Given the description of an element on the screen output the (x, y) to click on. 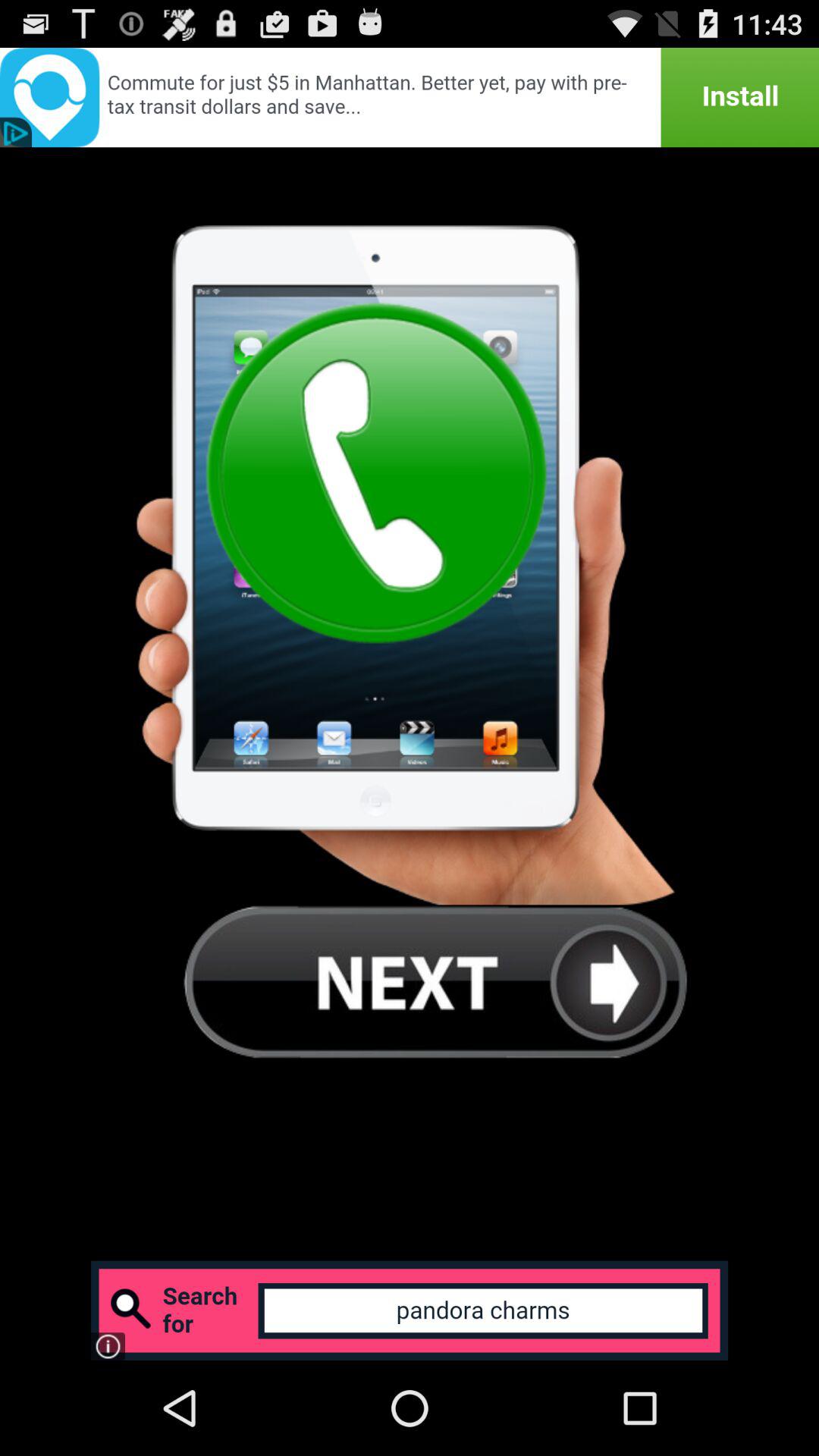
install the app (409, 97)
